Given the description of an element on the screen output the (x, y) to click on. 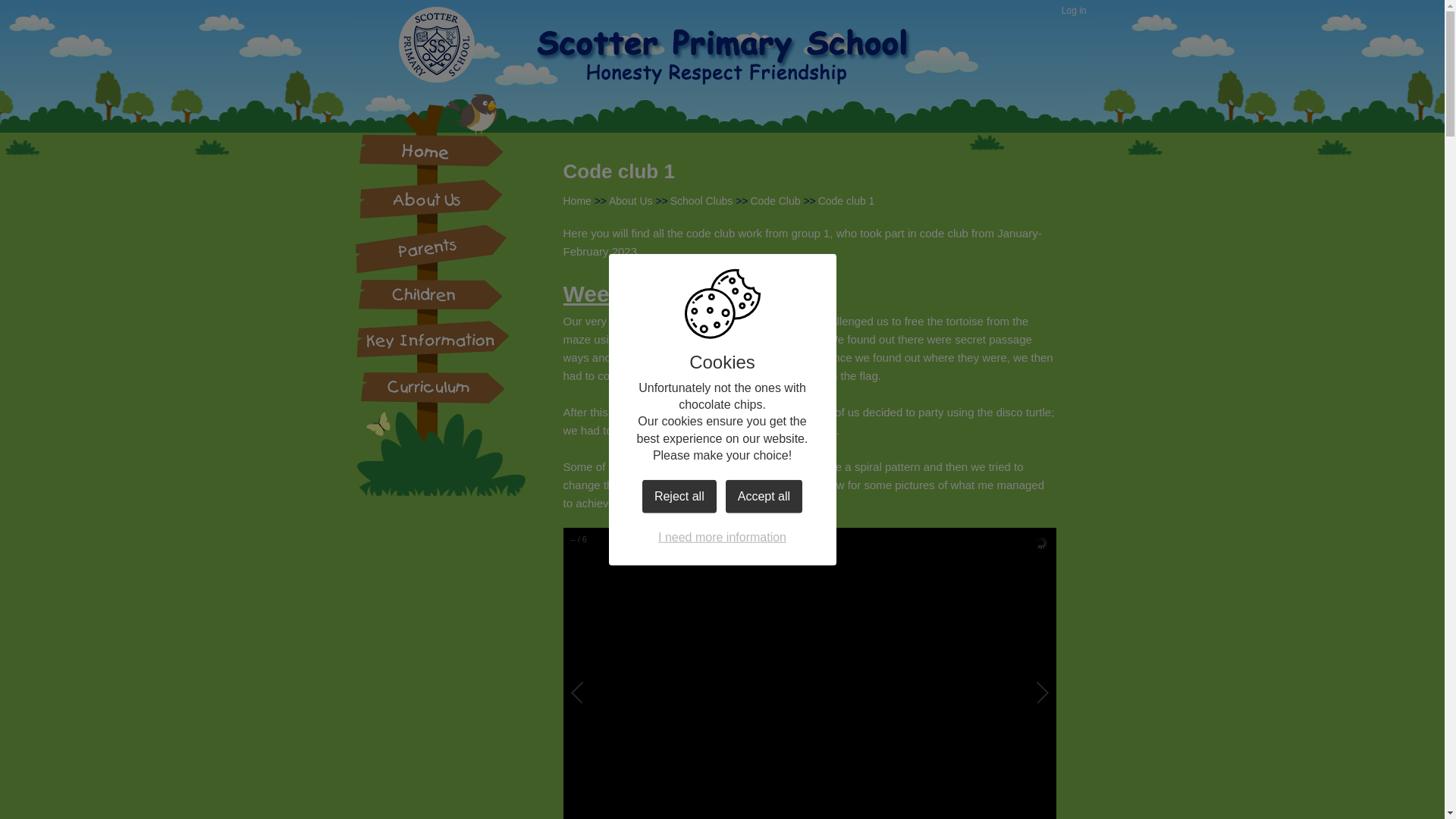
Parents (431, 248)
Home (431, 150)
Log in (1073, 11)
Home Page (746, 70)
Code club 1 (846, 200)
Home (576, 200)
Code Club (774, 200)
Home Page (746, 70)
About Us (431, 196)
School Clubs (701, 200)
